Given the description of an element on the screen output the (x, y) to click on. 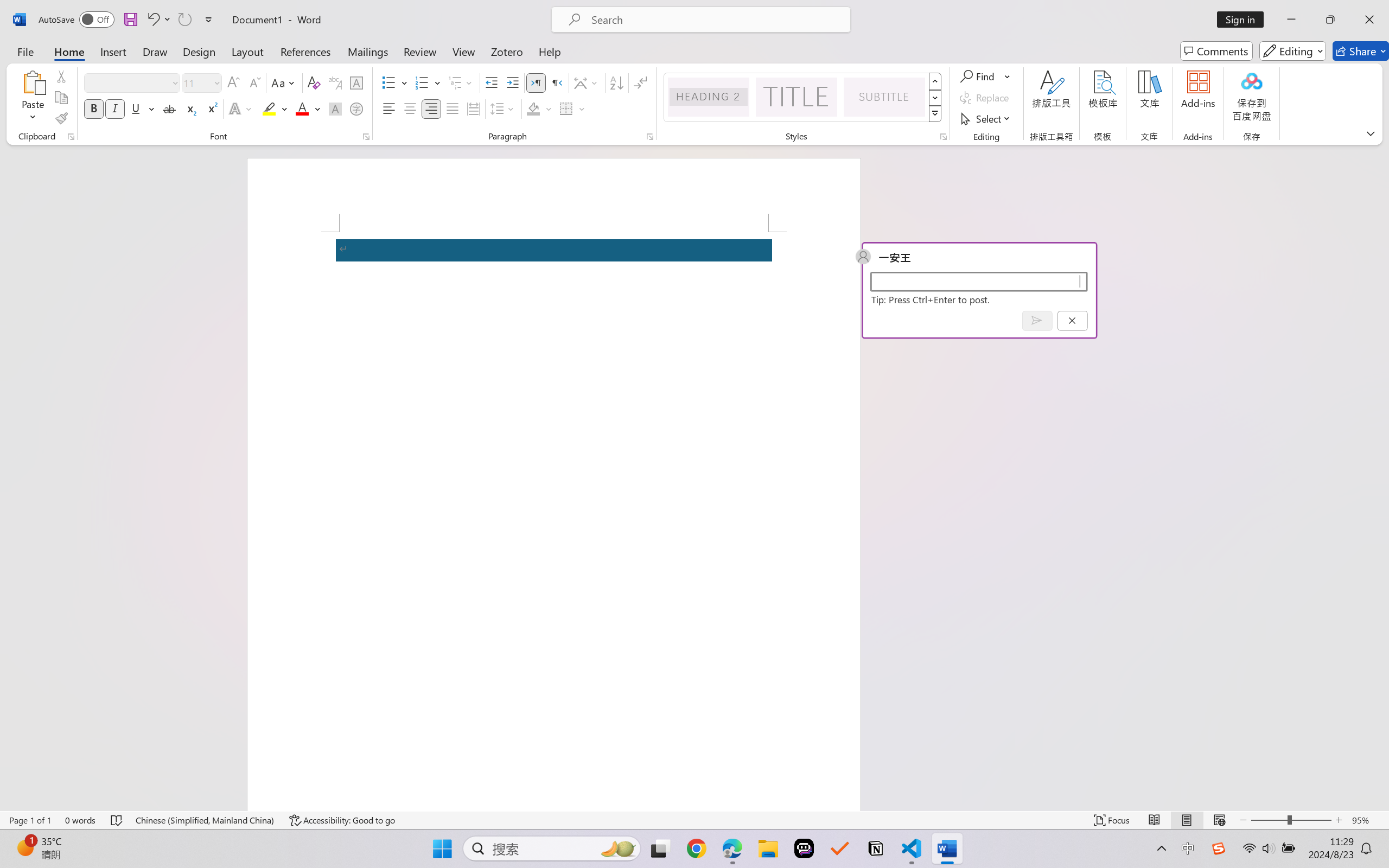
AutomationID: QuickStylesGallery (802, 97)
Text Highlight Color RGB(255, 255, 0) (269, 108)
Undo (152, 19)
